Given the description of an element on the screen output the (x, y) to click on. 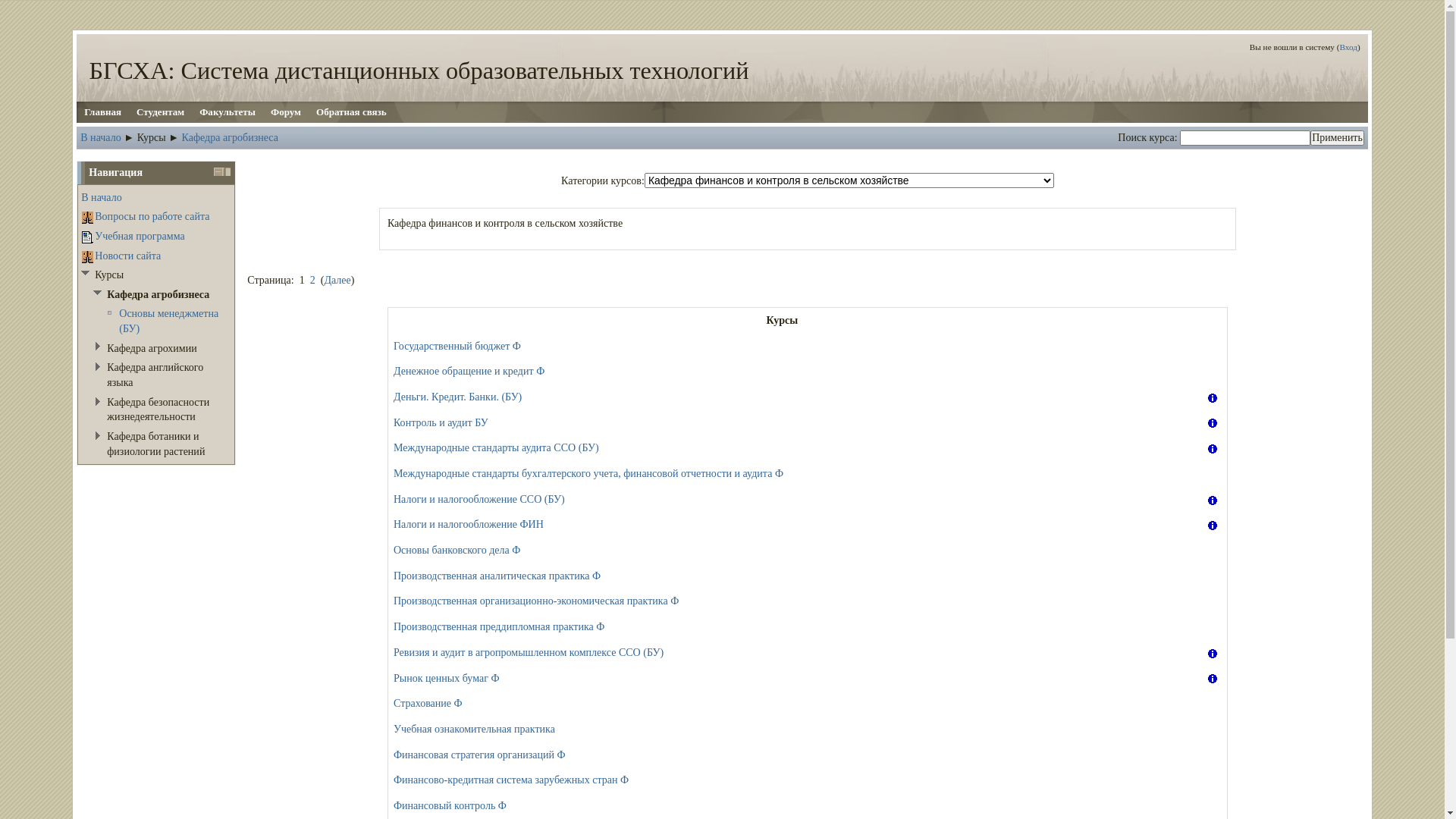
moodle Element type: hover (109, 312)
2 Element type: text (312, 279)
